Given the description of an element on the screen output the (x, y) to click on. 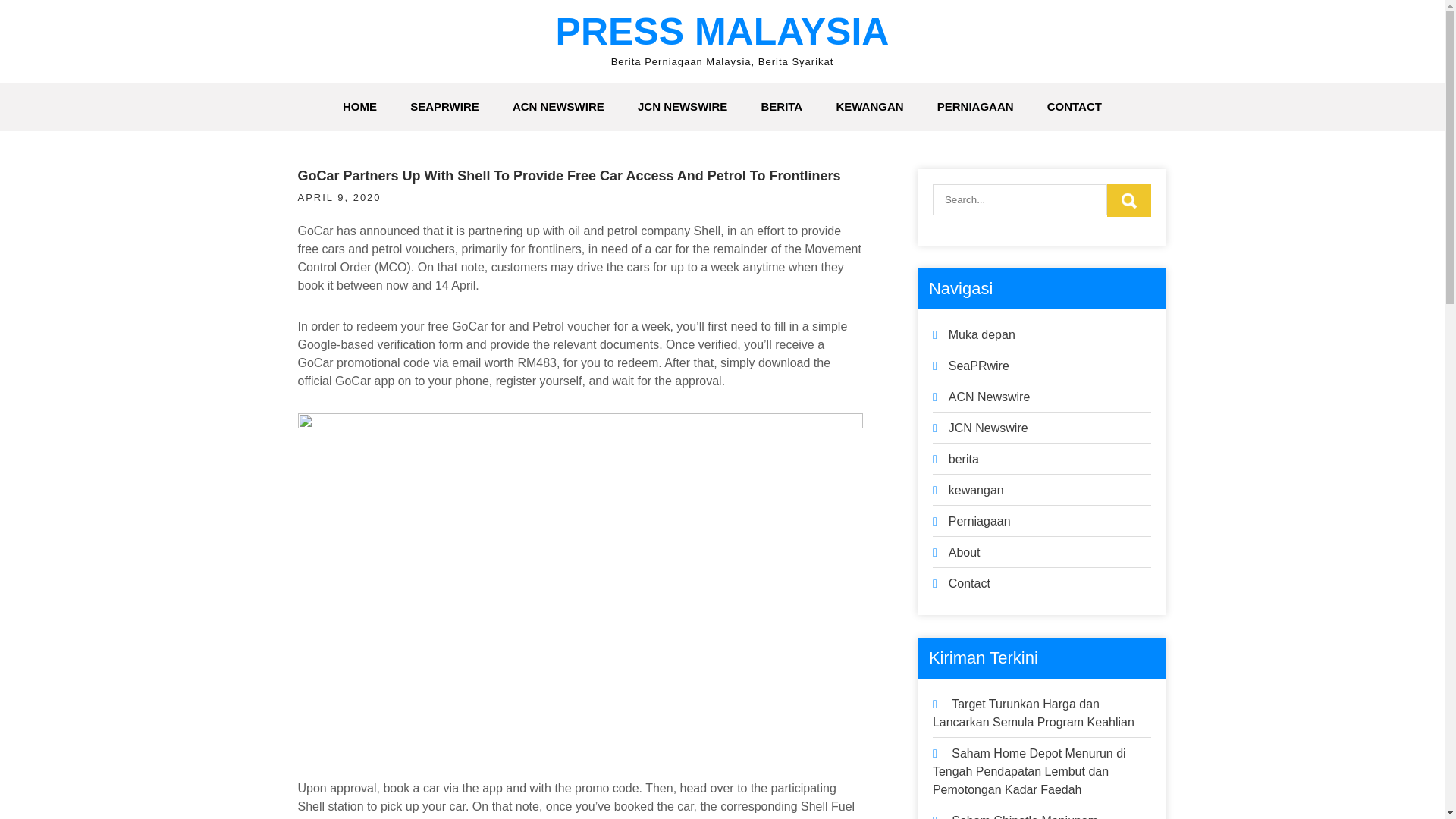
JCN NEWSWIRE (682, 106)
ACN Newswire (989, 396)
Search (1128, 200)
KEWANGAN (869, 106)
Search (1128, 200)
ACN NEWSWIRE (558, 106)
SEAPRWIRE (444, 106)
Contact (969, 583)
JCN Newswire (988, 427)
